Given the description of an element on the screen output the (x, y) to click on. 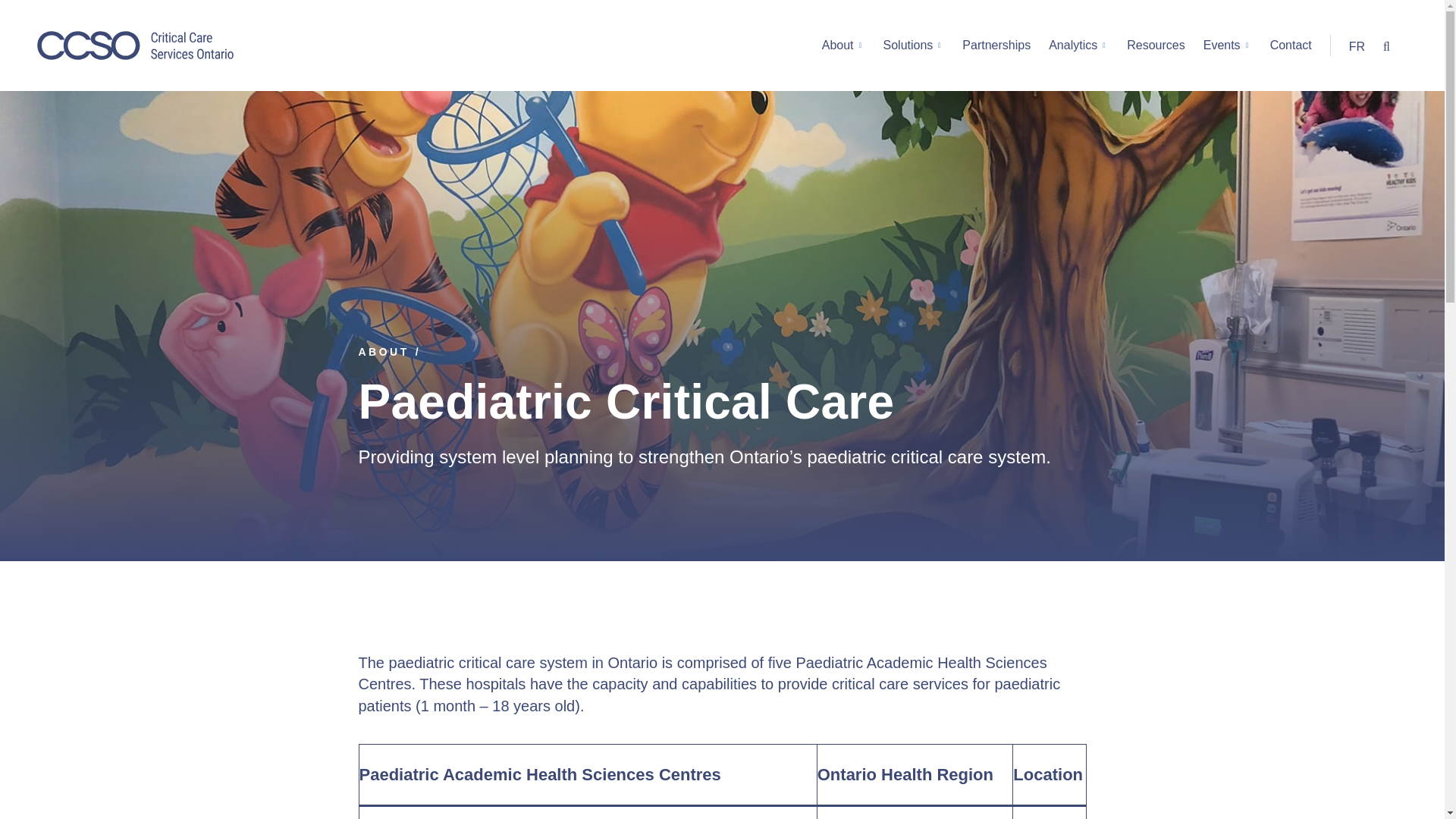
Analytics (1073, 45)
Partnerships (996, 45)
About (839, 45)
FR (1357, 47)
Events (1222, 45)
ABOUT (383, 351)
Solutions (908, 45)
FR (1357, 47)
Contact (1290, 45)
Resources (1155, 45)
